Given the description of an element on the screen output the (x, y) to click on. 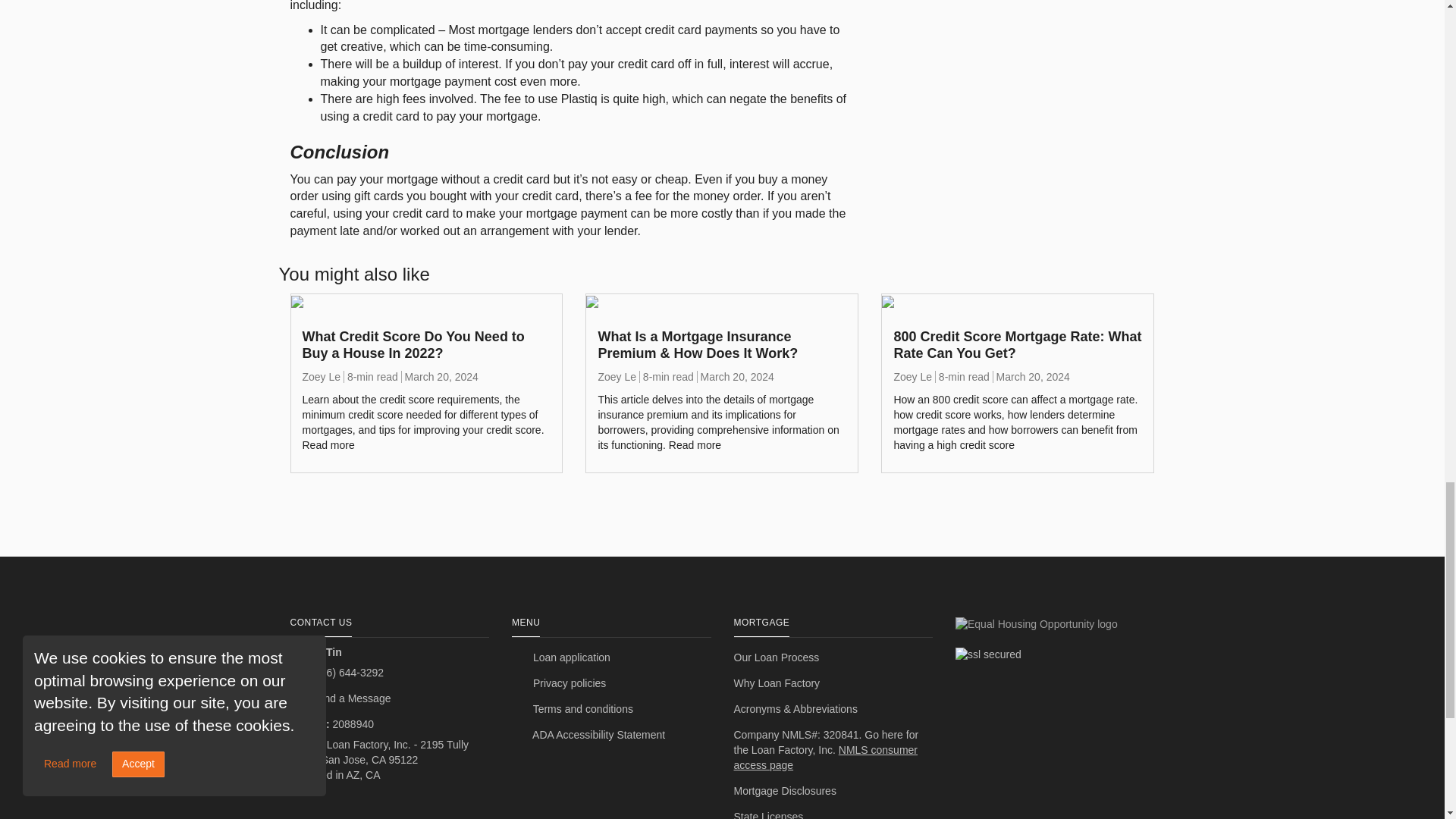
Why Loan Factory (833, 683)
Privacy policies (611, 683)
ADA Accessibility Statement (611, 735)
Terms and conditions (611, 709)
Send a Message (389, 698)
Loan application (611, 657)
Our Loan Process (833, 657)
State Licenses (833, 811)
Mortgage Disclosures (833, 791)
